Given the description of an element on the screen output the (x, y) to click on. 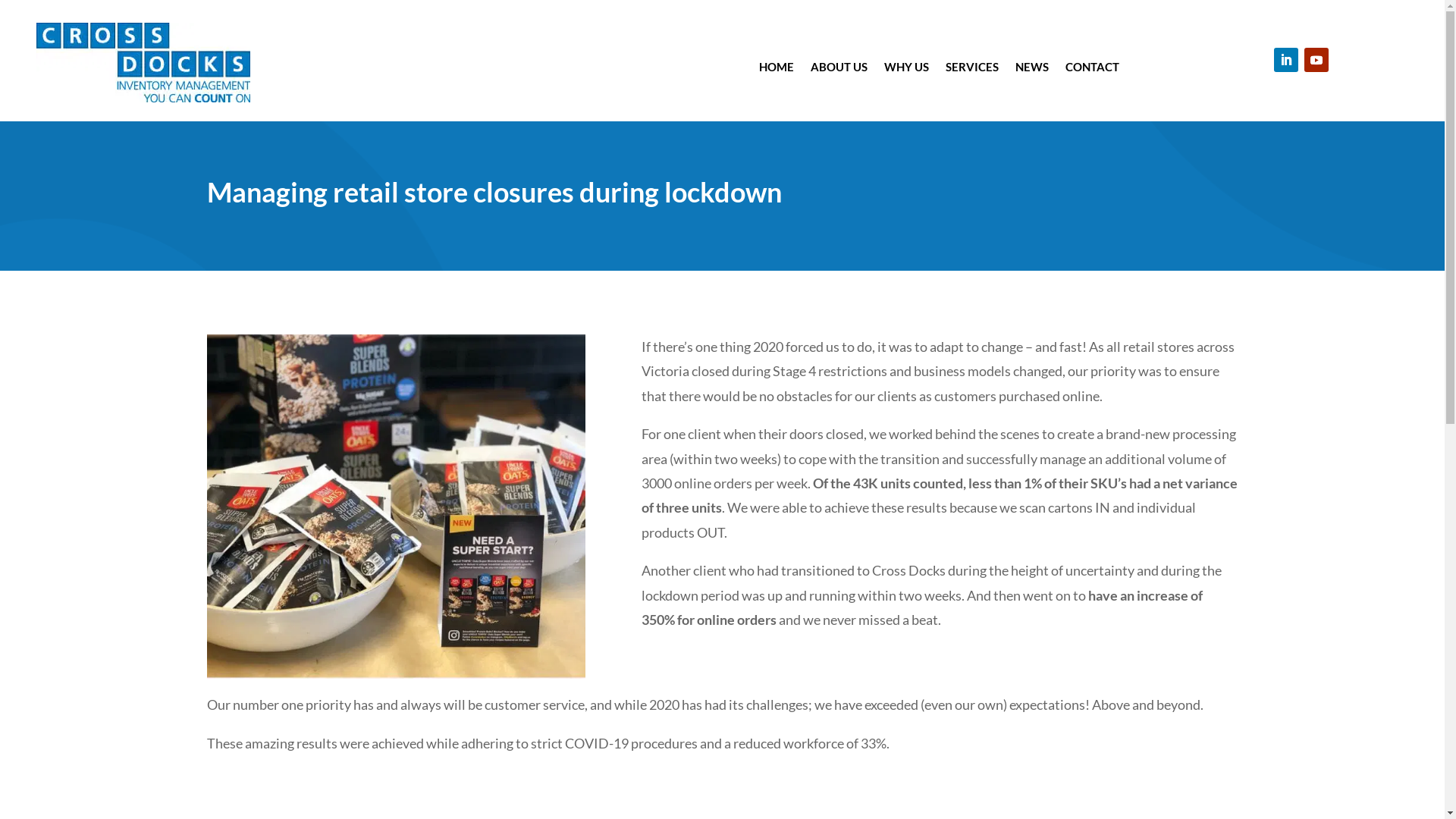
NEWS Element type: text (1031, 65)
Follow on Youtube Element type: hover (1316, 59)
CONTACT Element type: text (1092, 65)
HOME Element type: text (776, 65)
Follow on LinkedIn Element type: hover (1286, 59)
WHY US Element type: text (906, 65)
SERVICES Element type: text (971, 65)
ABOUT US Element type: text (838, 65)
